Given the description of an element on the screen output the (x, y) to click on. 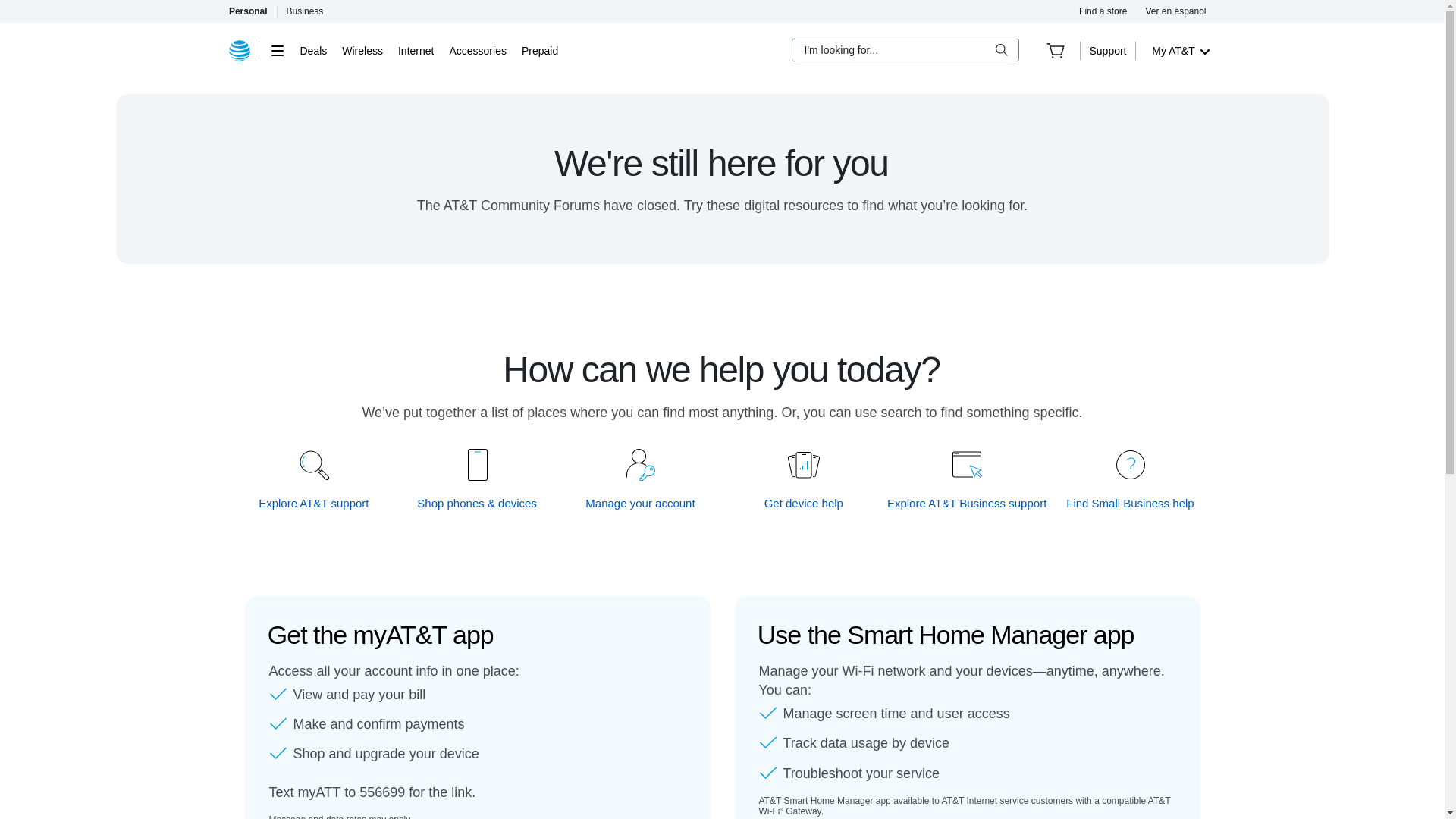
Search (1000, 50)
Find a store (1102, 10)
Manage your account (640, 503)
Get device help (803, 503)
Support (1107, 50)
Find Small Business help (1130, 503)
Accessories (476, 50)
Business (305, 10)
Personal (247, 10)
Support (1107, 50)
